Given the description of an element on the screen output the (x, y) to click on. 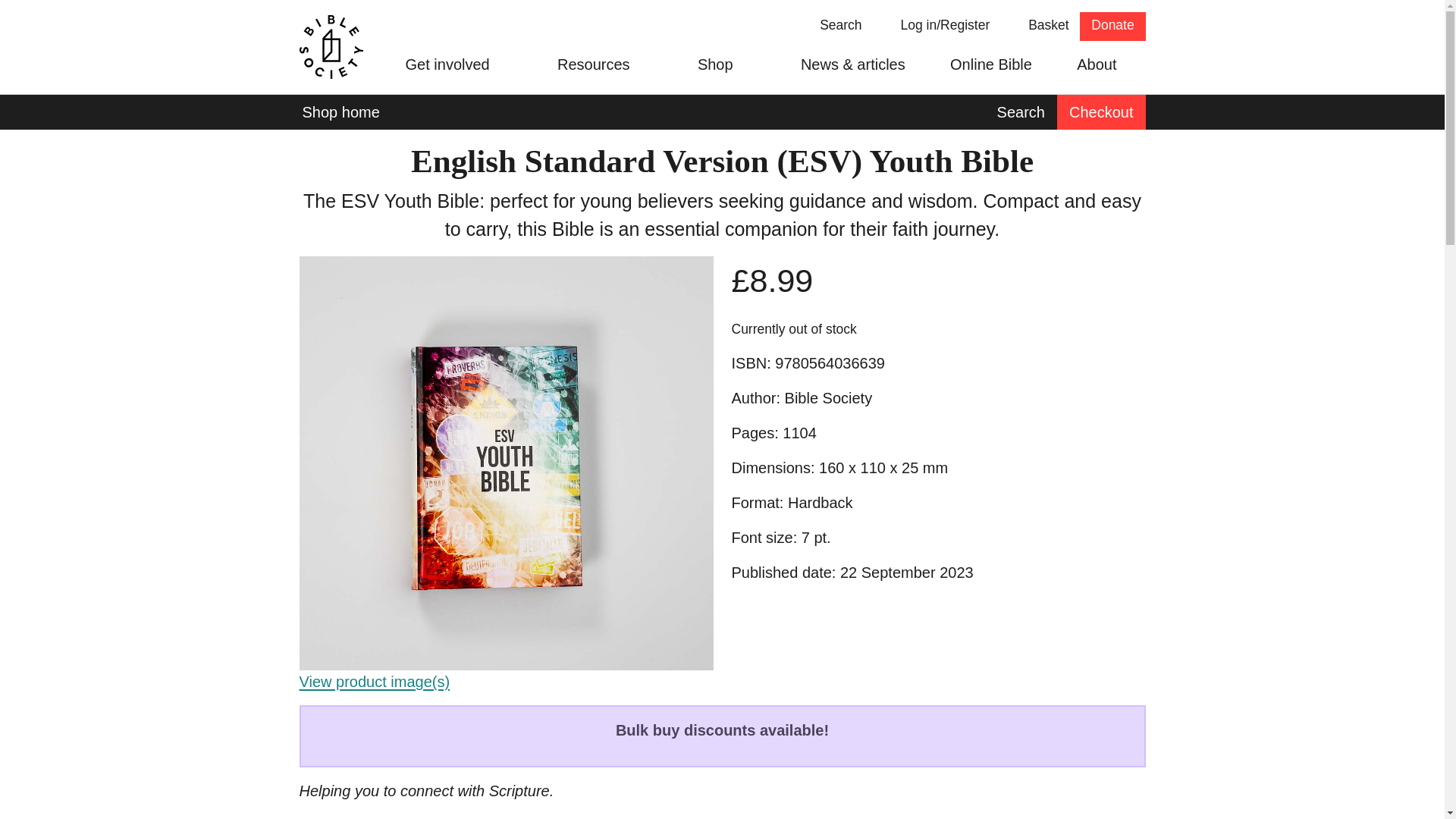
Donate (1112, 26)
Get involved (830, 26)
